Given the description of an element on the screen output the (x, y) to click on. 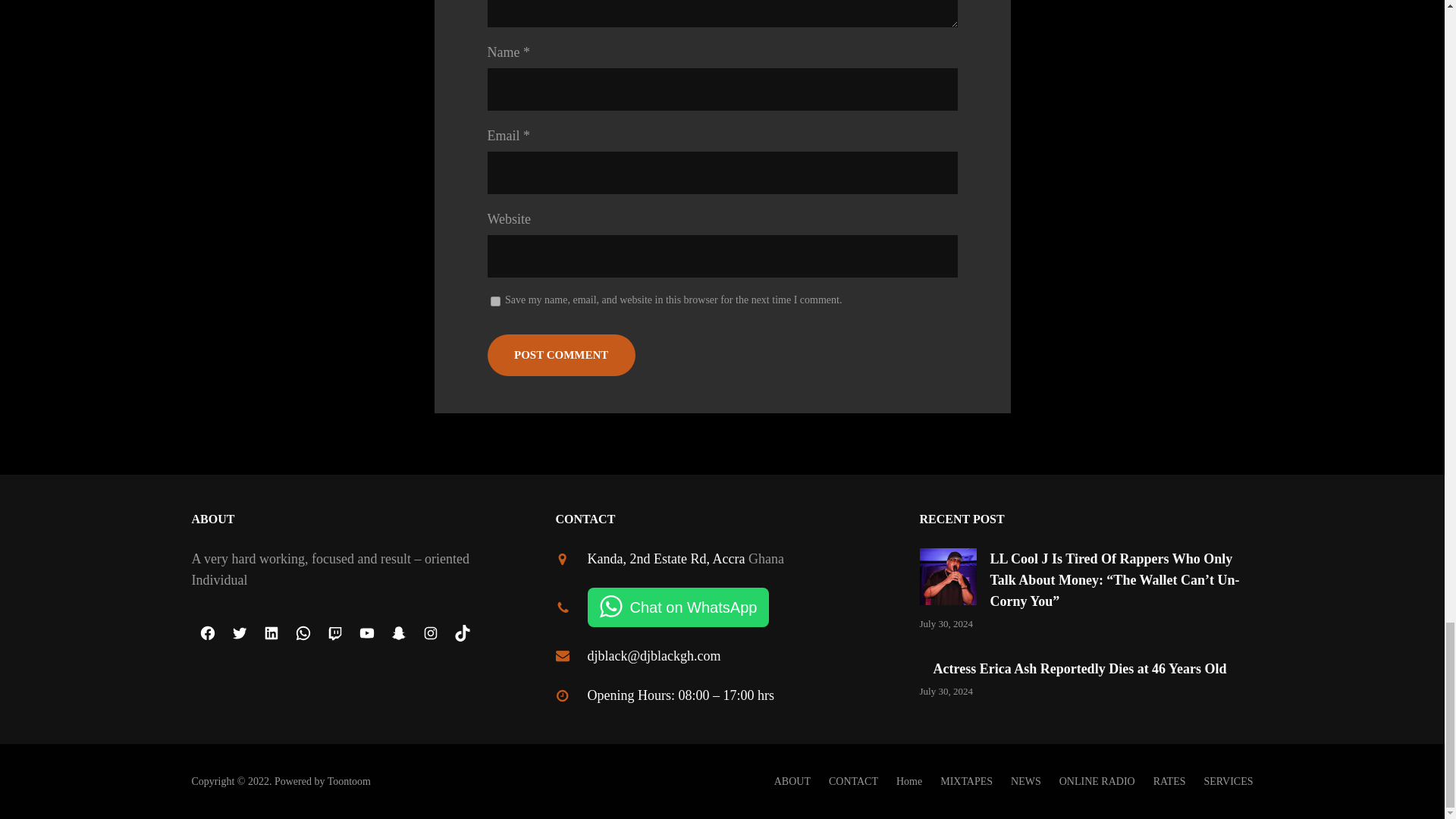
Snapchat (397, 633)
Kanda, 2nd Estate Rd, Accra (665, 558)
Actress Erica Ash Reportedly Dies at 46 Years Old (1079, 668)
YouTube (365, 633)
Twitch (334, 633)
Instagram (429, 633)
LinkedIn (270, 633)
Post Comment (560, 354)
WhatsApp (302, 633)
Twitter (238, 633)
Facebook (206, 633)
Post Comment (560, 354)
Chat on WhatsApp (677, 607)
TikTok (461, 633)
